Given the description of an element on the screen output the (x, y) to click on. 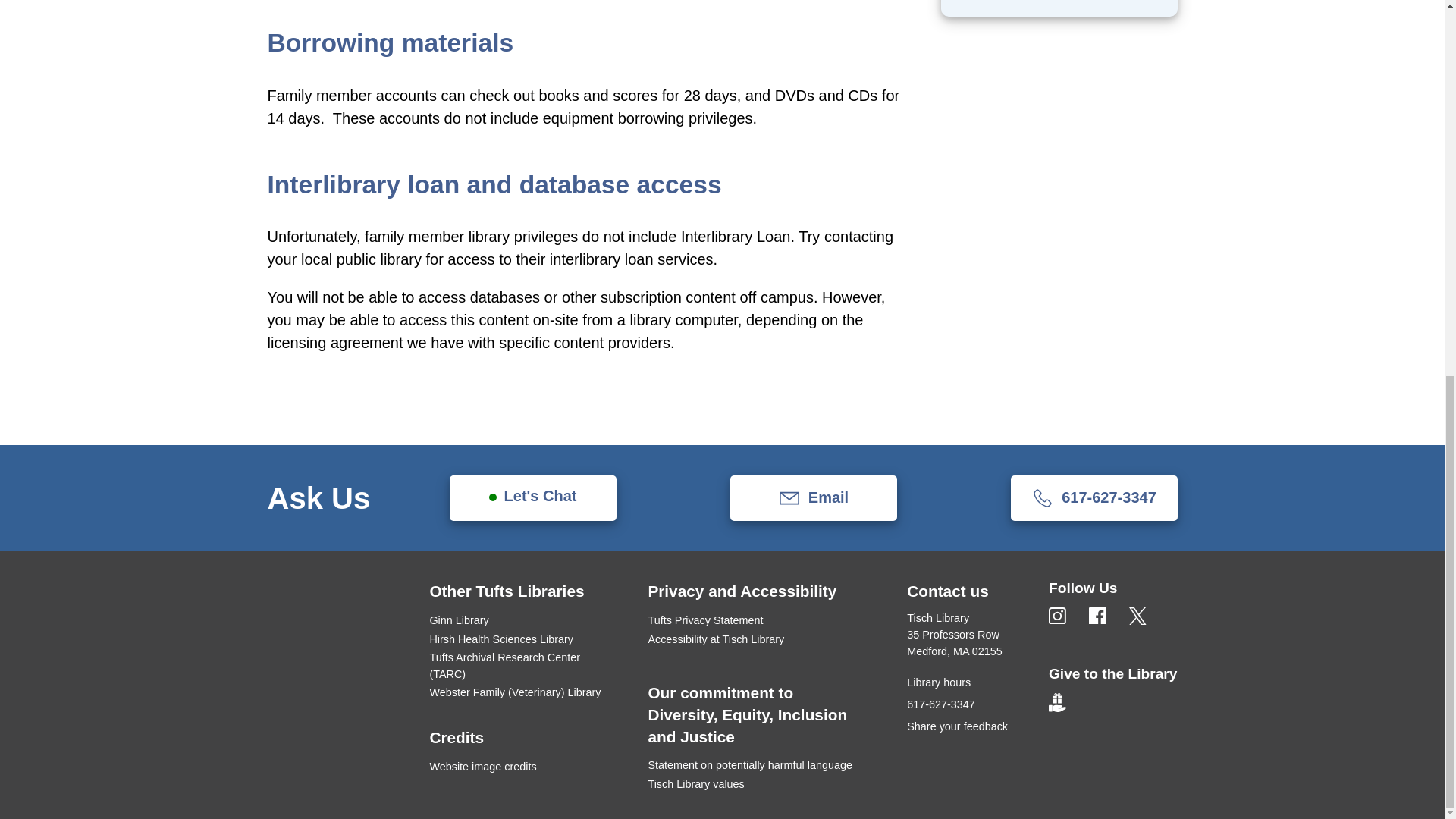
Artboard 98 (1056, 615)
